Given the description of an element on the screen output the (x, y) to click on. 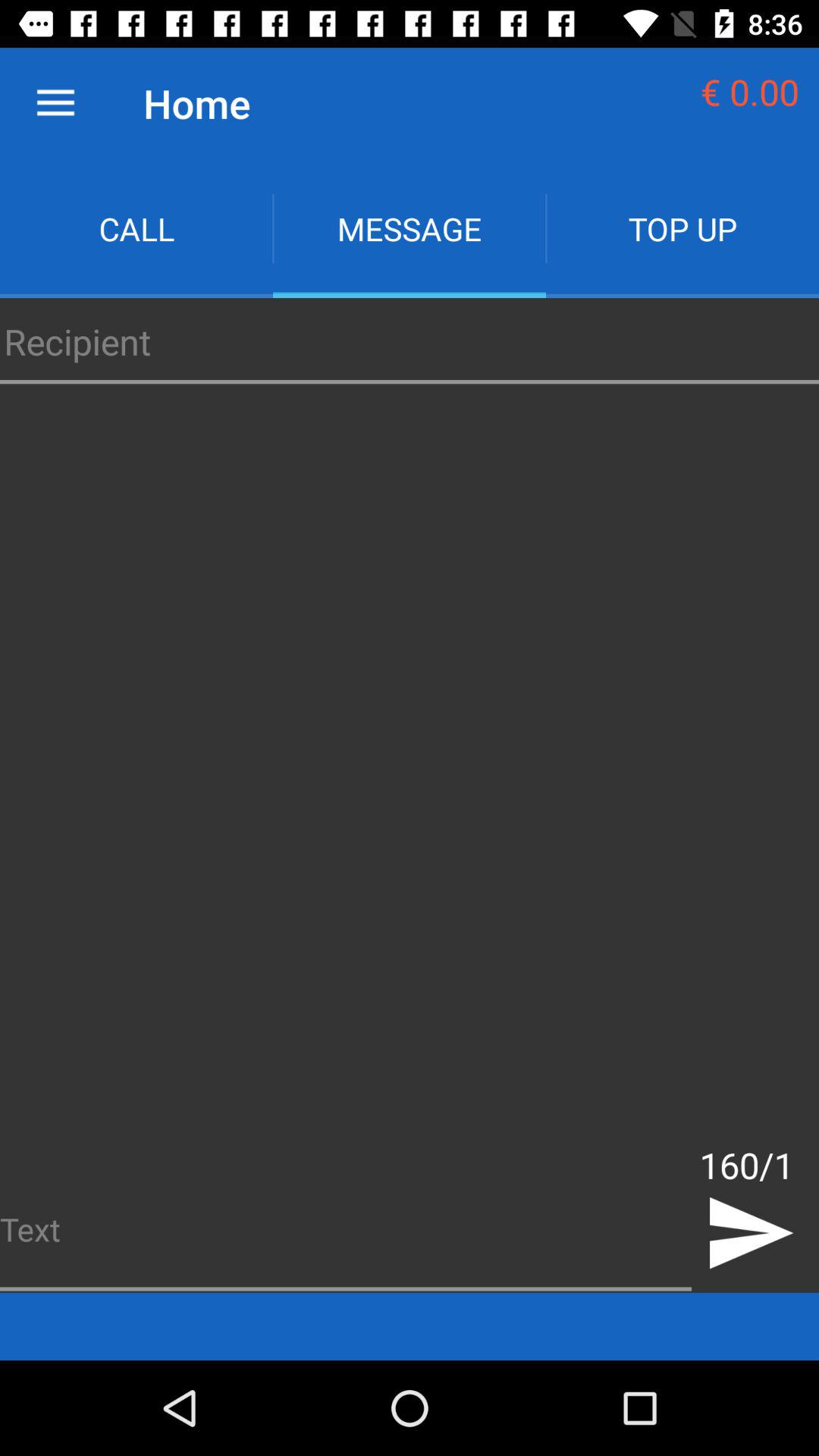
open the app next to the message icon (136, 228)
